Given the description of an element on the screen output the (x, y) to click on. 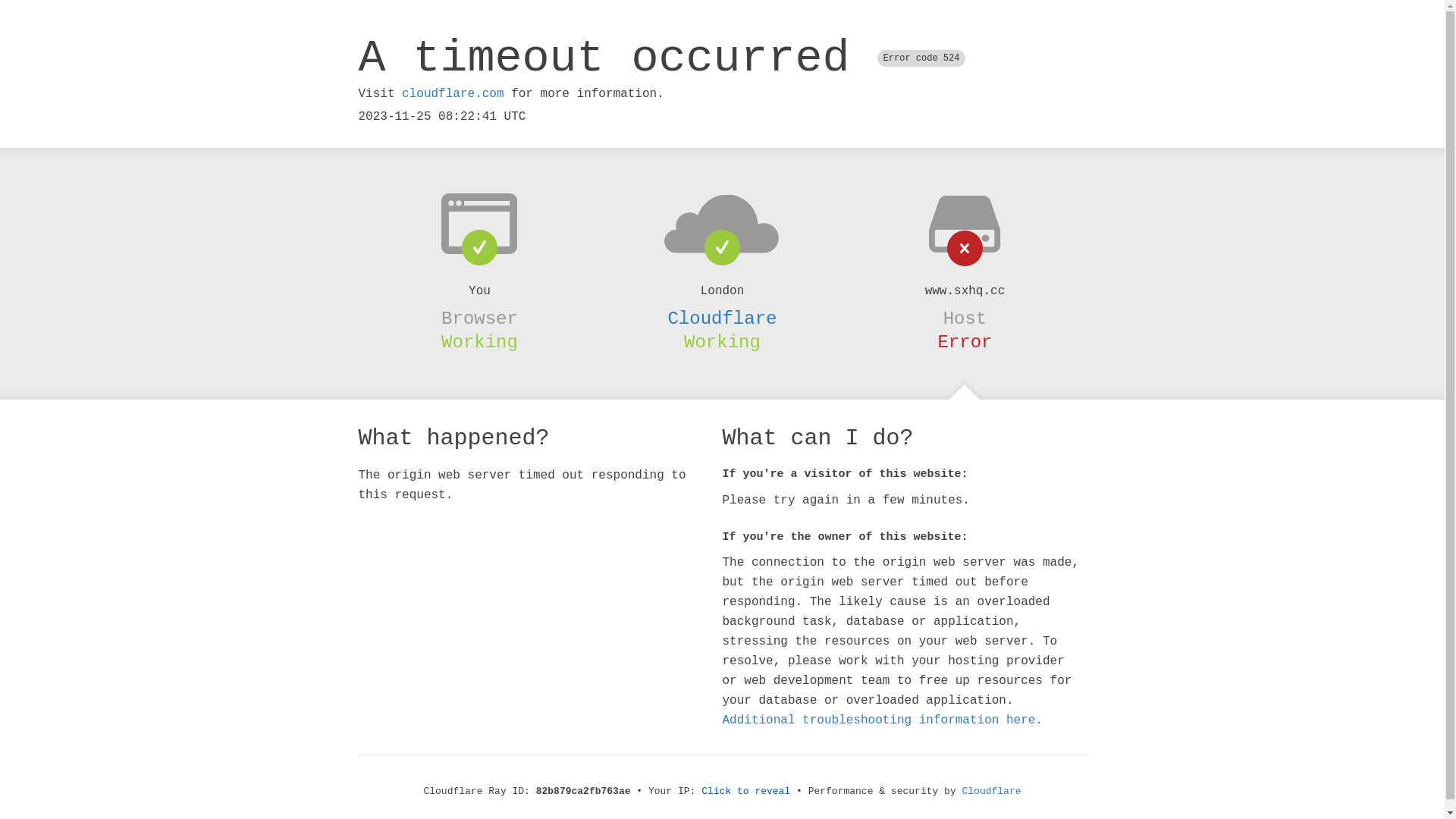
Additional troubleshooting information here. Element type: text (881, 720)
Cloudflare Element type: text (721, 318)
Click to reveal Element type: text (745, 791)
Cloudflare Element type: text (991, 791)
cloudflare.com Element type: text (452, 93)
